Given the description of an element on the screen output the (x, y) to click on. 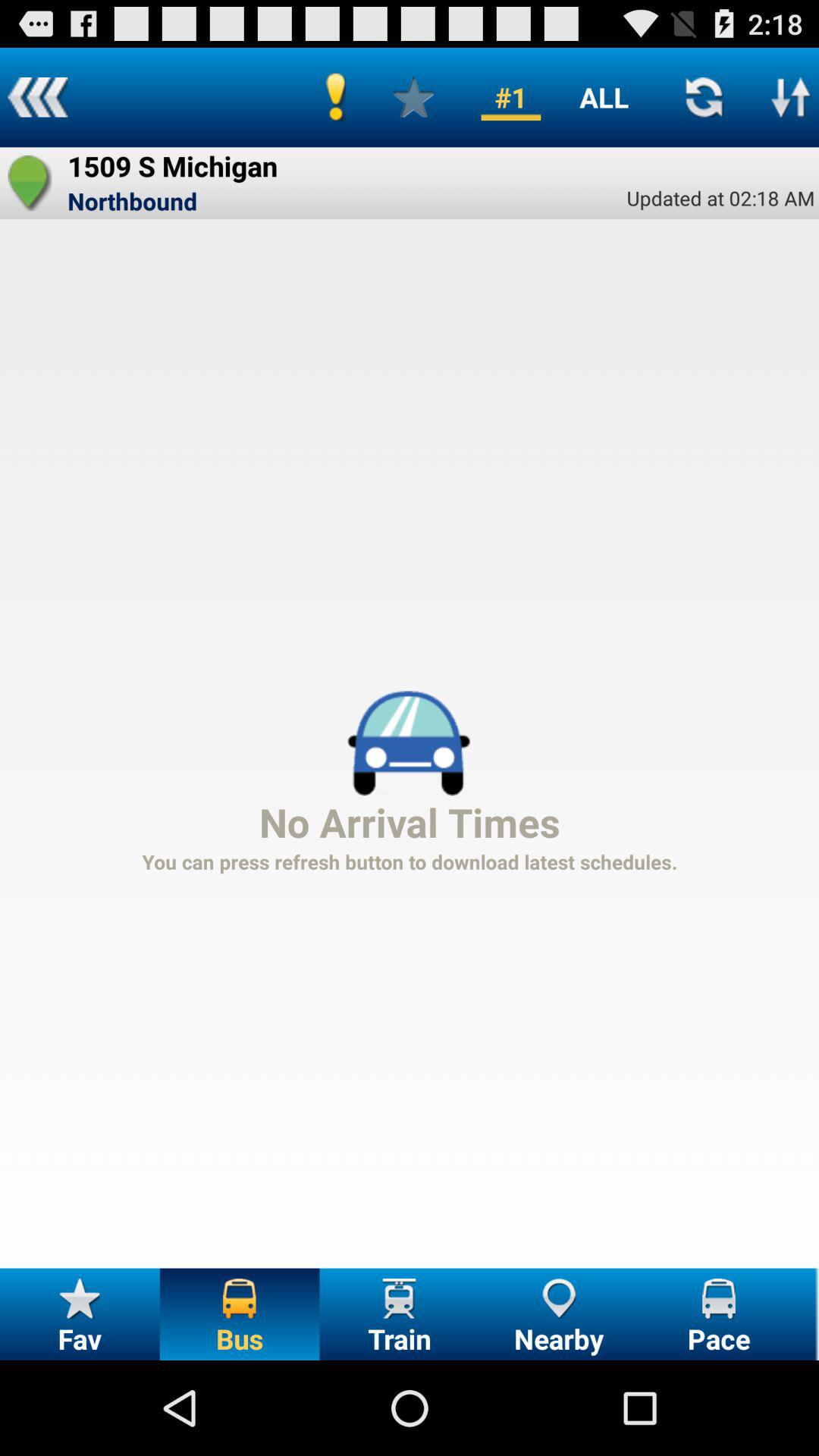
scroll until #1 (510, 97)
